Given the description of an element on the screen output the (x, y) to click on. 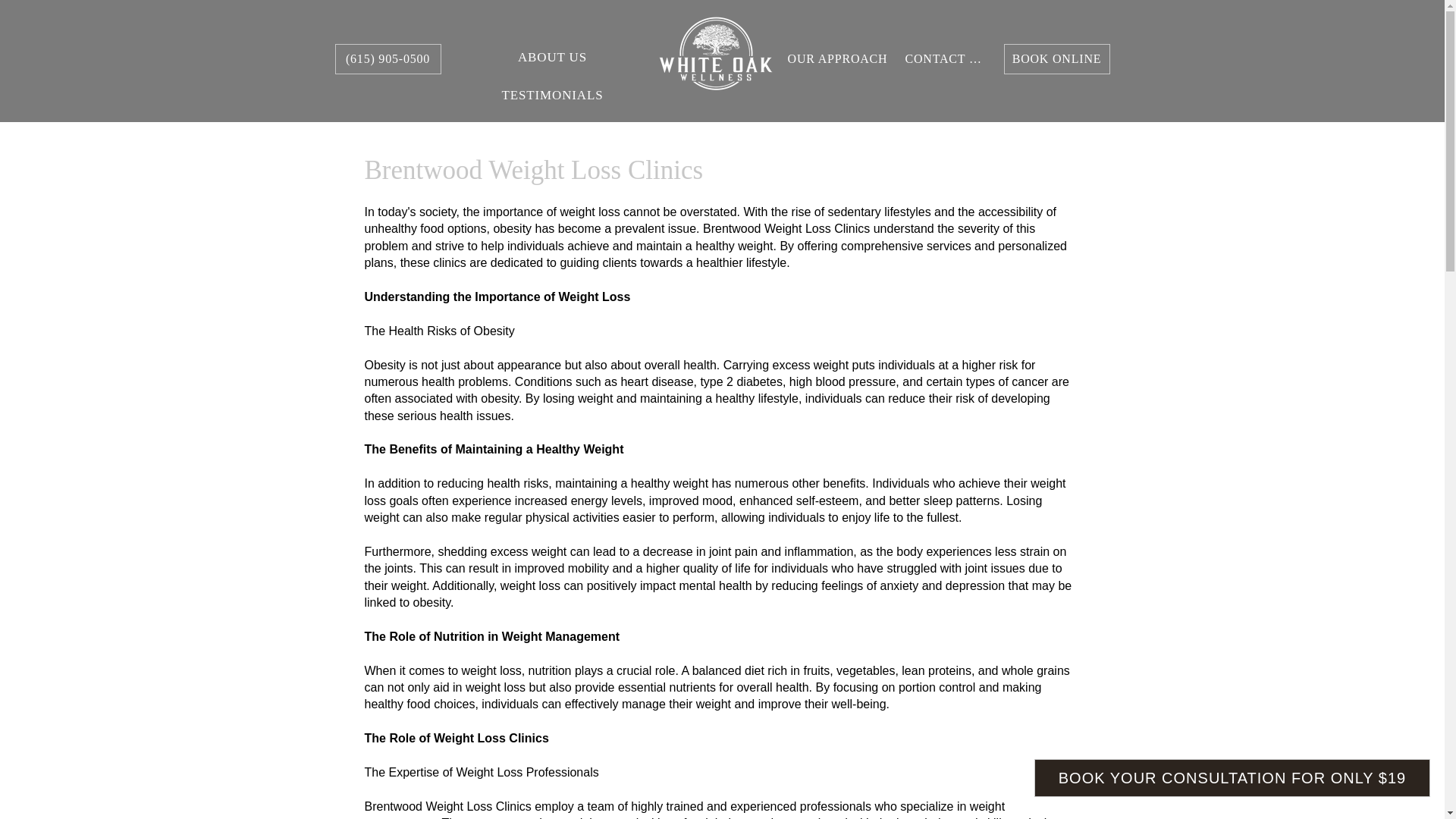
OUR APPROACH (836, 59)
BOOK ONLINE (1056, 59)
TESTIMONIALS (551, 95)
CONTACT US (945, 59)
